Given the description of an element on the screen output the (x, y) to click on. 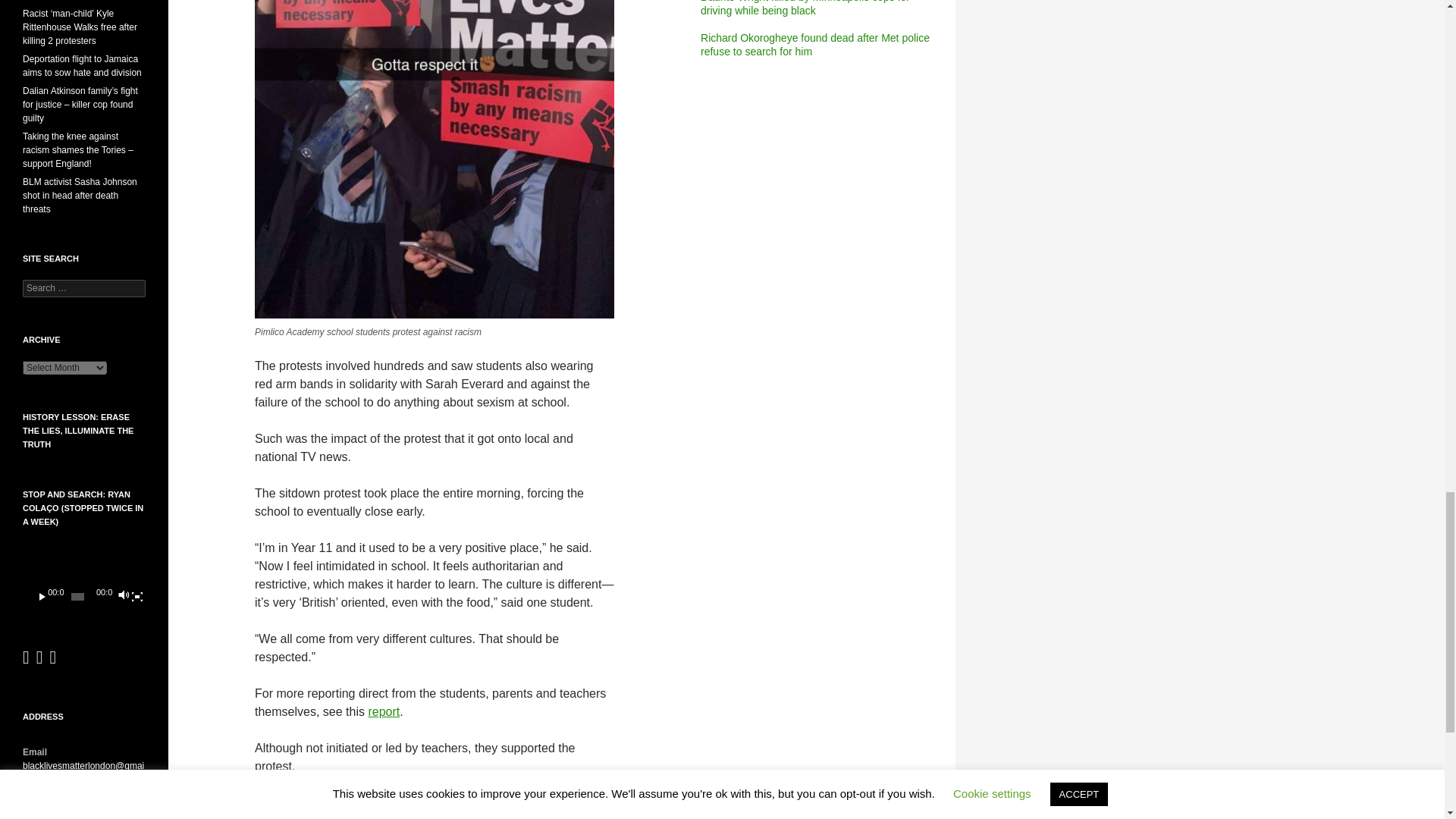
Play (41, 596)
Fullscreen (136, 596)
report (383, 711)
